Given the description of an element on the screen output the (x, y) to click on. 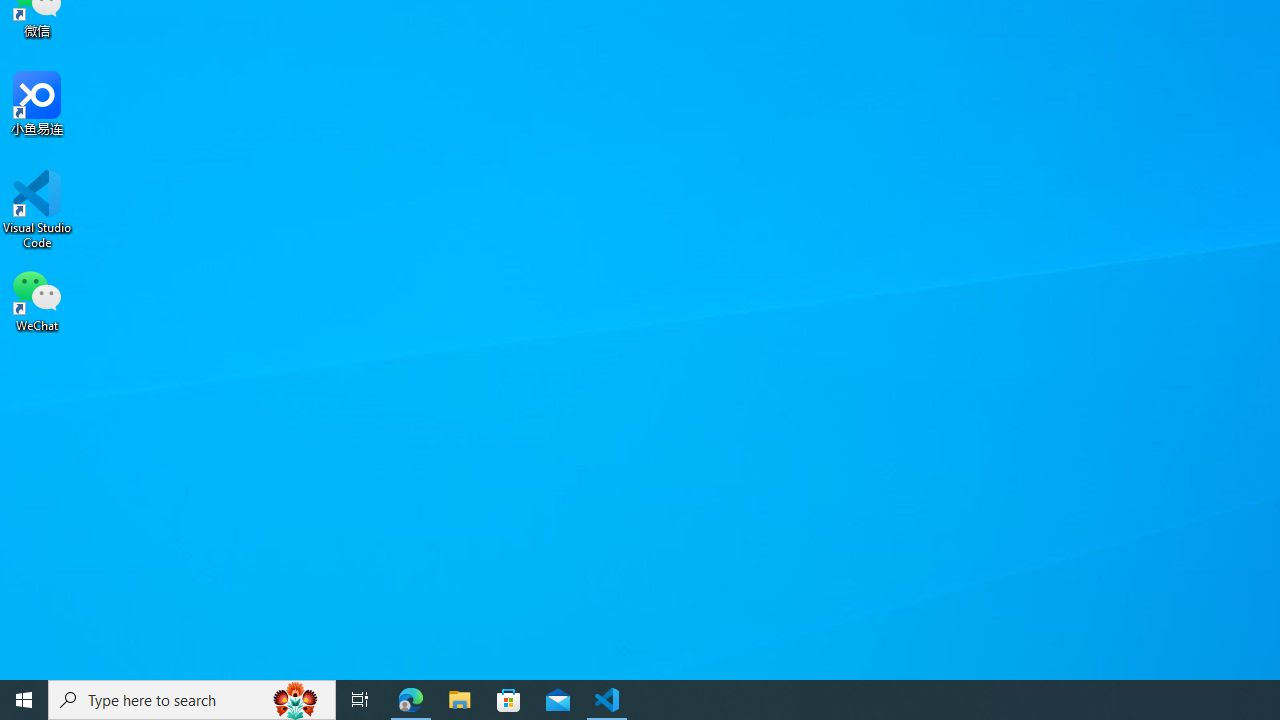
Microsoft Edge - 1 running window (411, 699)
File Explorer (460, 699)
Visual Studio Code - 1 running window (607, 699)
Visual Studio Code (37, 209)
Search highlights icon opens search home window (295, 699)
Type here to search (191, 699)
WeChat (37, 299)
Start (24, 699)
Microsoft Store (509, 699)
Task View (359, 699)
